Given the description of an element on the screen output the (x, y) to click on. 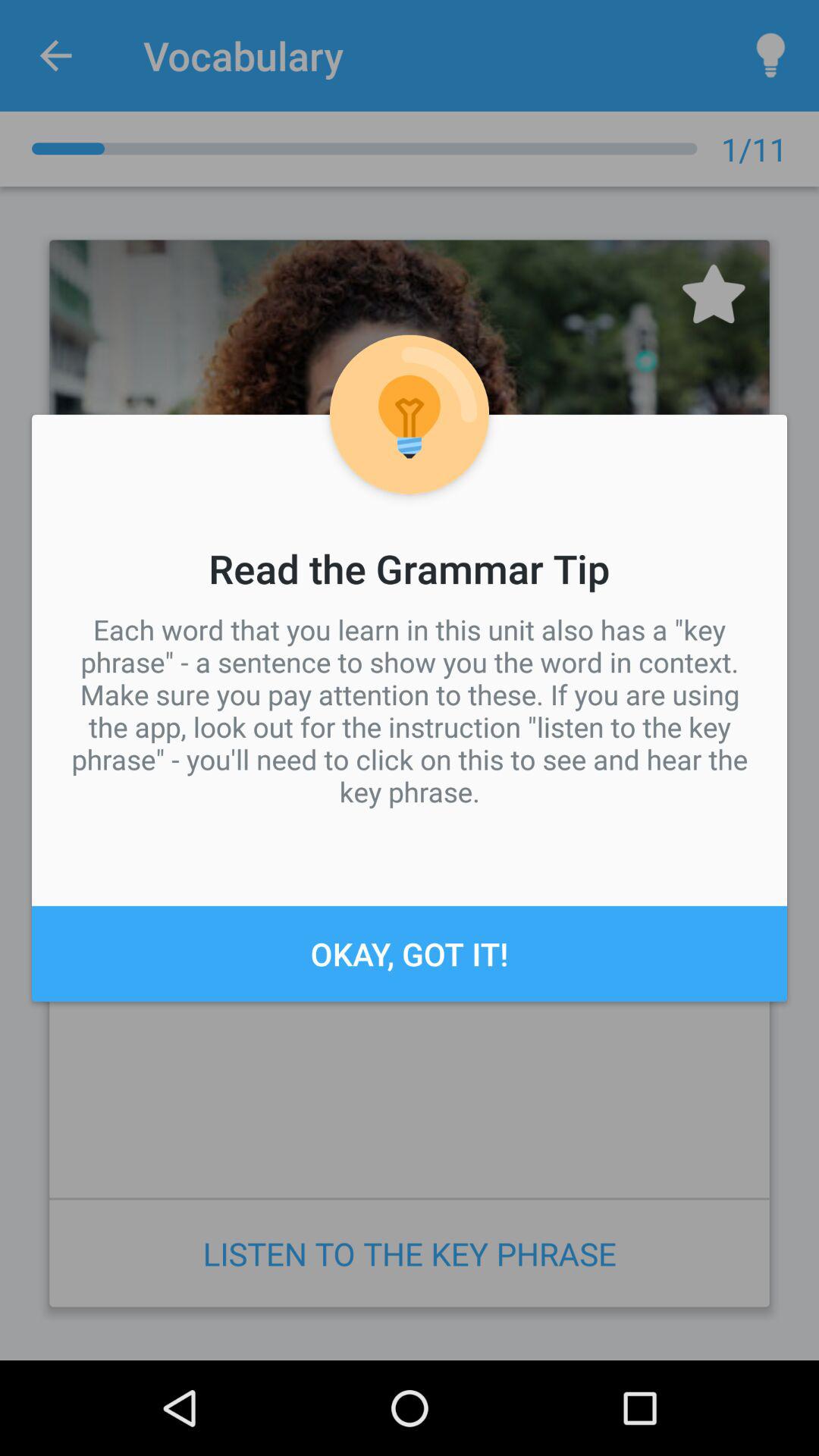
select the okay, got it! item (409, 953)
